Given the description of an element on the screen output the (x, y) to click on. 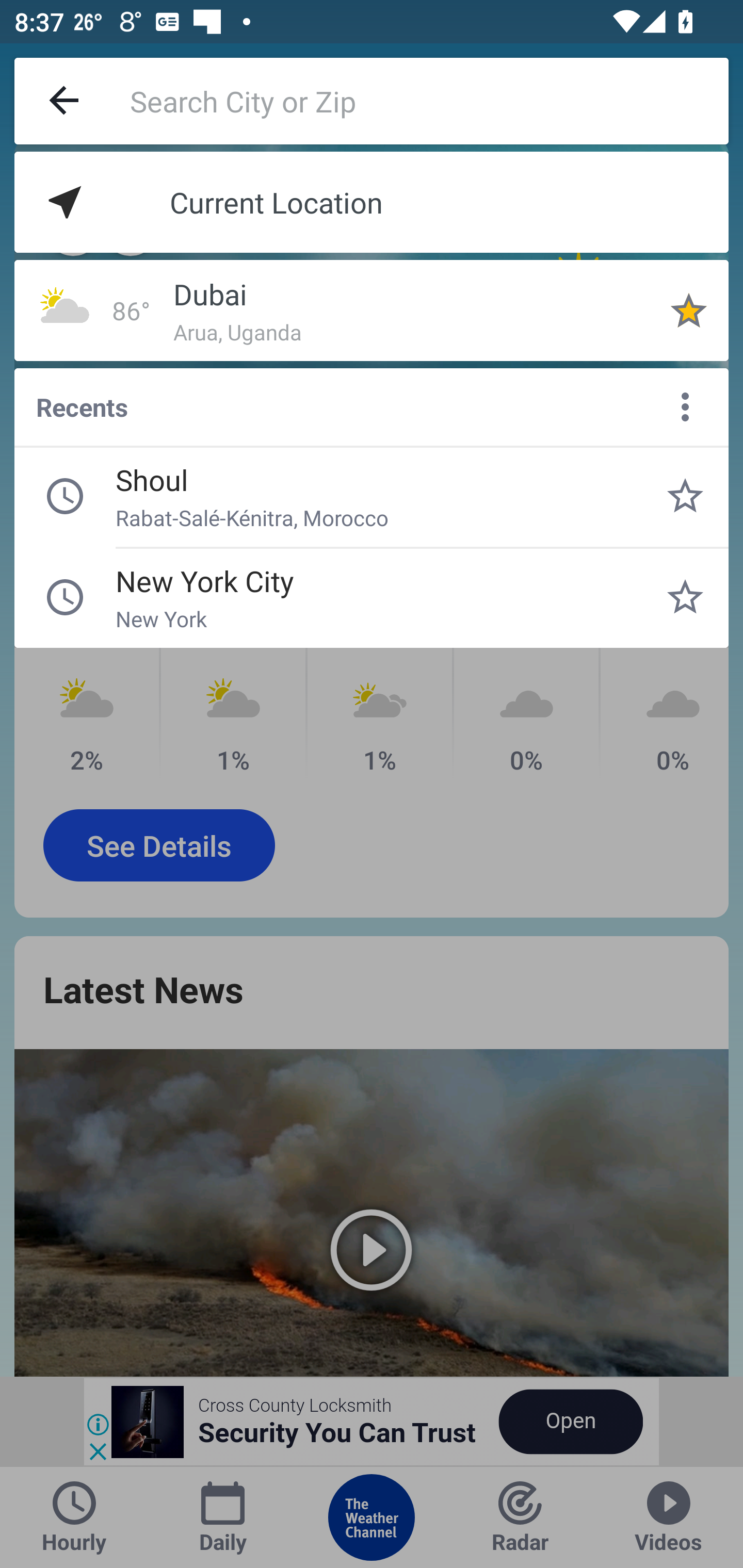
Back (64, 101)
Search City or Zip (429, 100)
Current Location (371, 202)
Dubai Arua, Uganda Remove from favorites (688, 310)
more (685, 406)
Shoul Rabat-Salé-Kénitra, Morocco Add to favorites (684, 496)
New York City New York Add to favorites (684, 597)
